Given the description of an element on the screen output the (x, y) to click on. 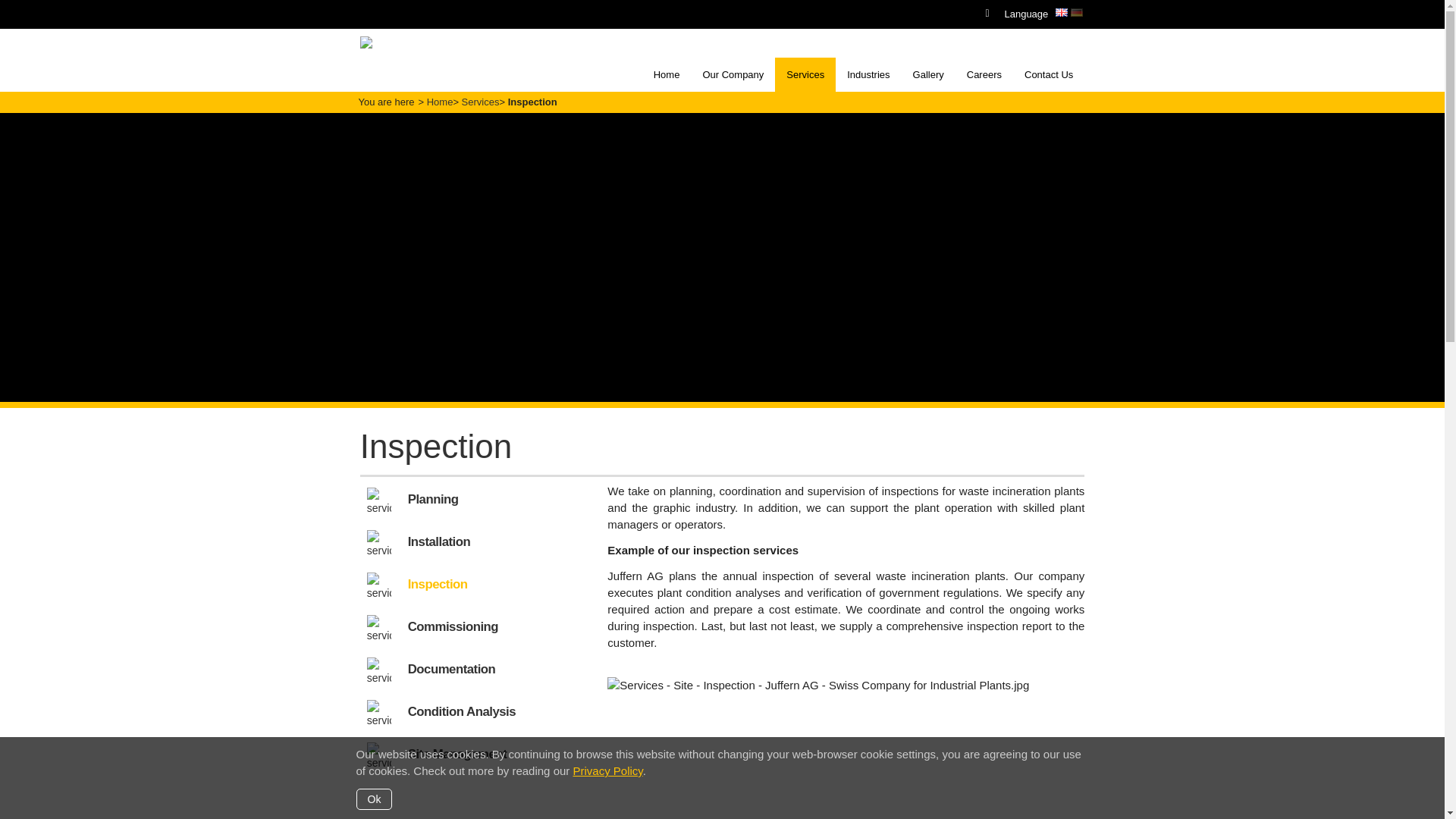
Careers (984, 74)
Our Company (732, 74)
Planning (432, 499)
Industries (868, 74)
Installation (438, 541)
Services (480, 101)
Gallery (928, 74)
Commissioning (452, 626)
Contact Us (1048, 74)
Home (439, 101)
